Given the description of an element on the screen output the (x, y) to click on. 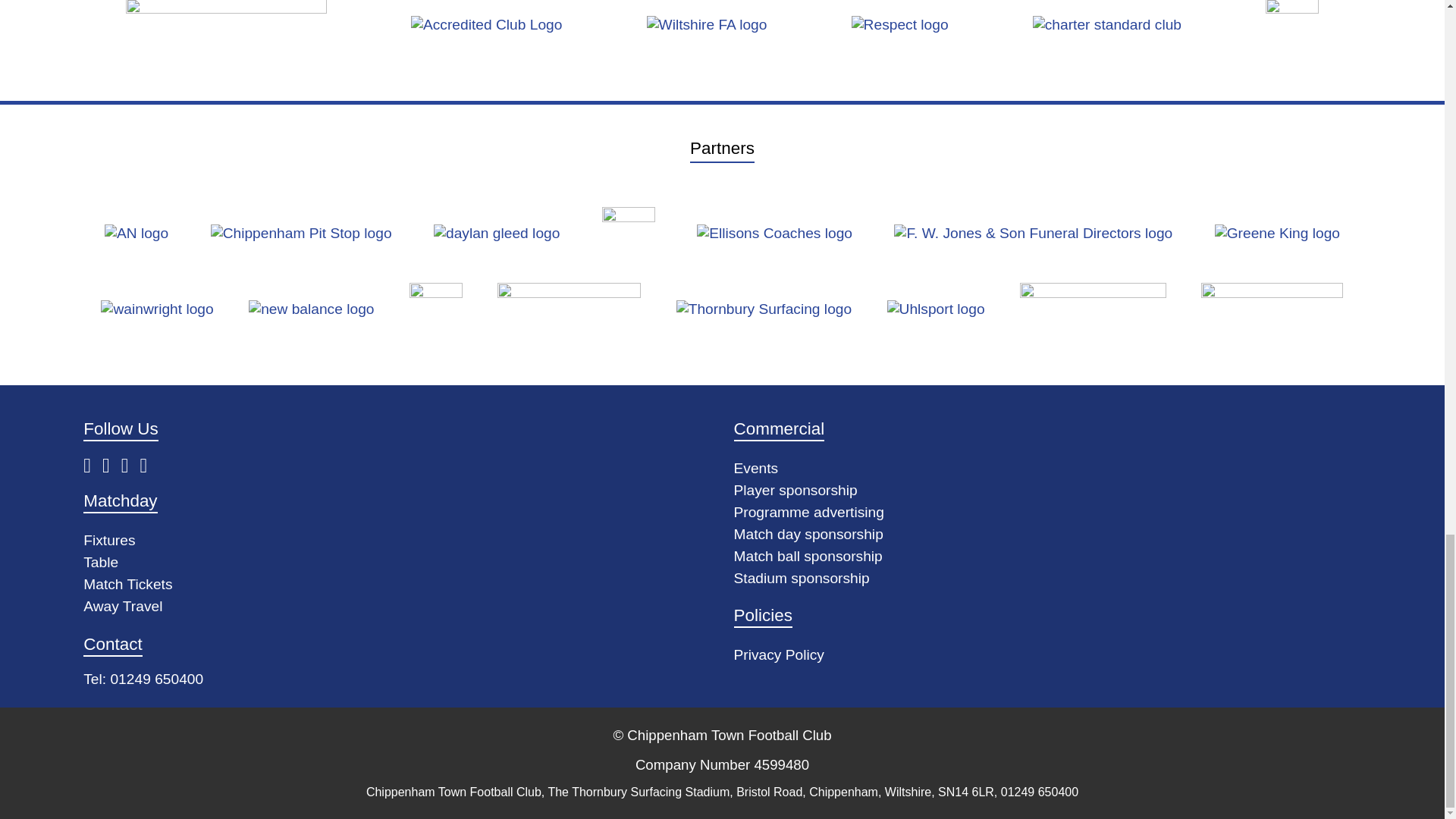
Chippenham Town Official Facebook Page (91, 465)
Official Chippenham Town Instagram Account (148, 465)
Chippenham Town Official YouTube Channel (129, 465)
Chippenham Town Official Twitter Account (110, 465)
